Given the description of an element on the screen output the (x, y) to click on. 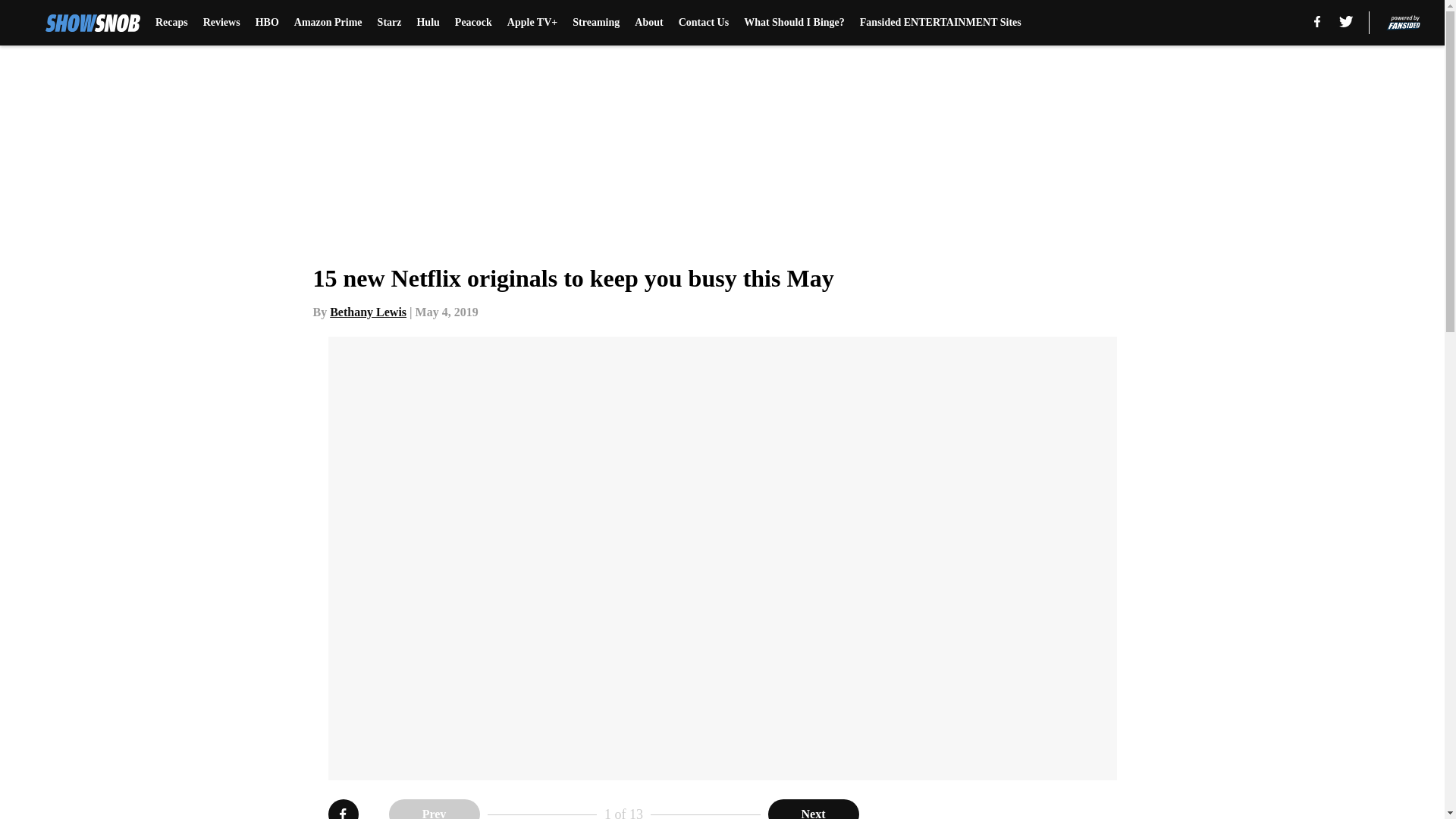
Bethany Lewis (368, 311)
Prev (433, 809)
What Should I Binge? (794, 22)
HBO (267, 22)
About (648, 22)
Reviews (221, 22)
Recaps (171, 22)
Next (813, 809)
Hulu (427, 22)
Starz (389, 22)
